Given the description of an element on the screen output the (x, y) to click on. 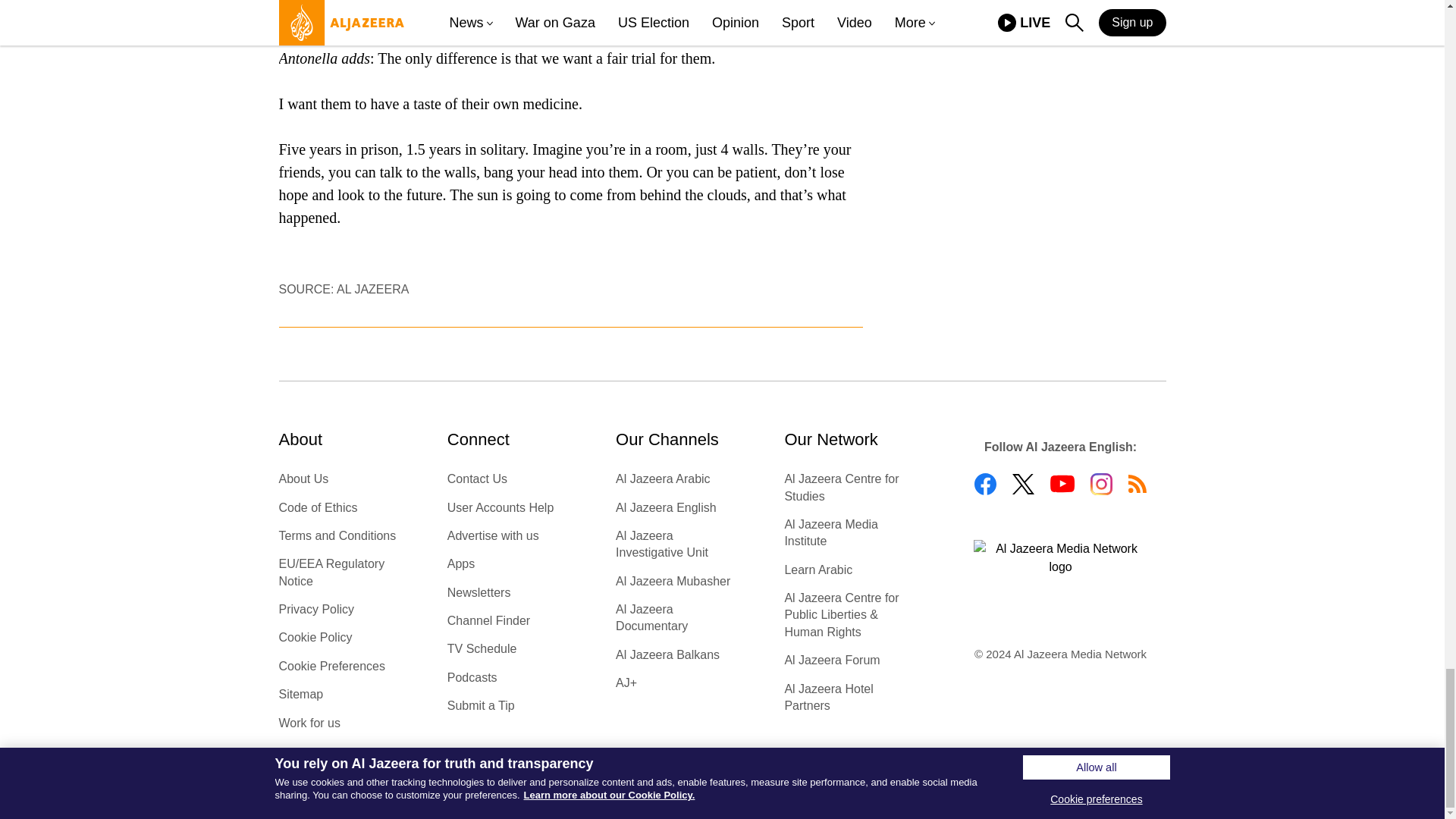
twitter (1022, 484)
instagram-colored-outline (1101, 484)
youtube (1061, 483)
facebook (984, 484)
rss (1137, 484)
